Given the description of an element on the screen output the (x, y) to click on. 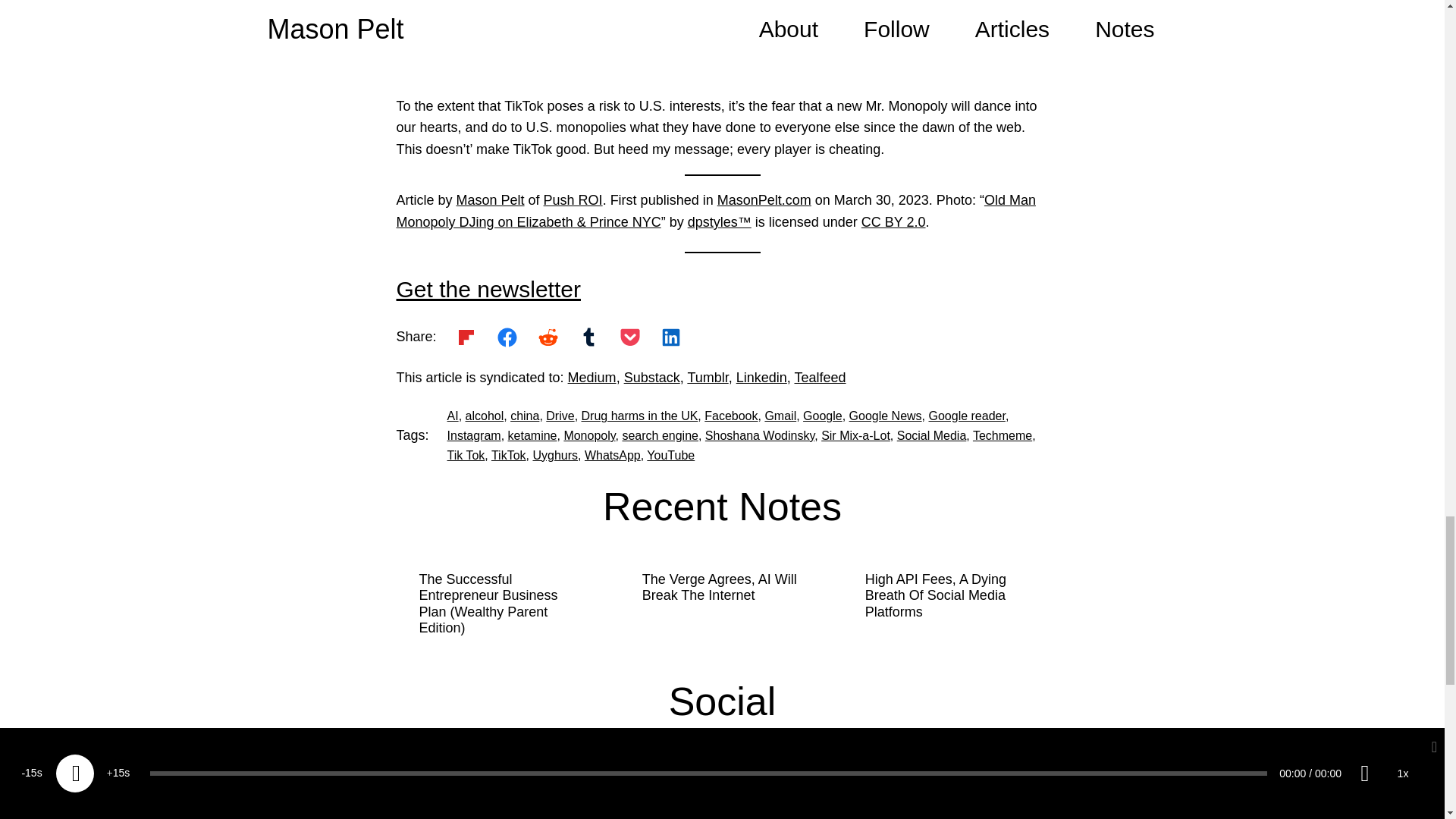
Reels Play bonus program (697, 7)
Push ROI (572, 200)
RELATED  AI Grief Tech Sure Seems Predatory (723, 56)
MasonPelt.com (763, 200)
Mason Pelt (490, 200)
